Given the description of an element on the screen output the (x, y) to click on. 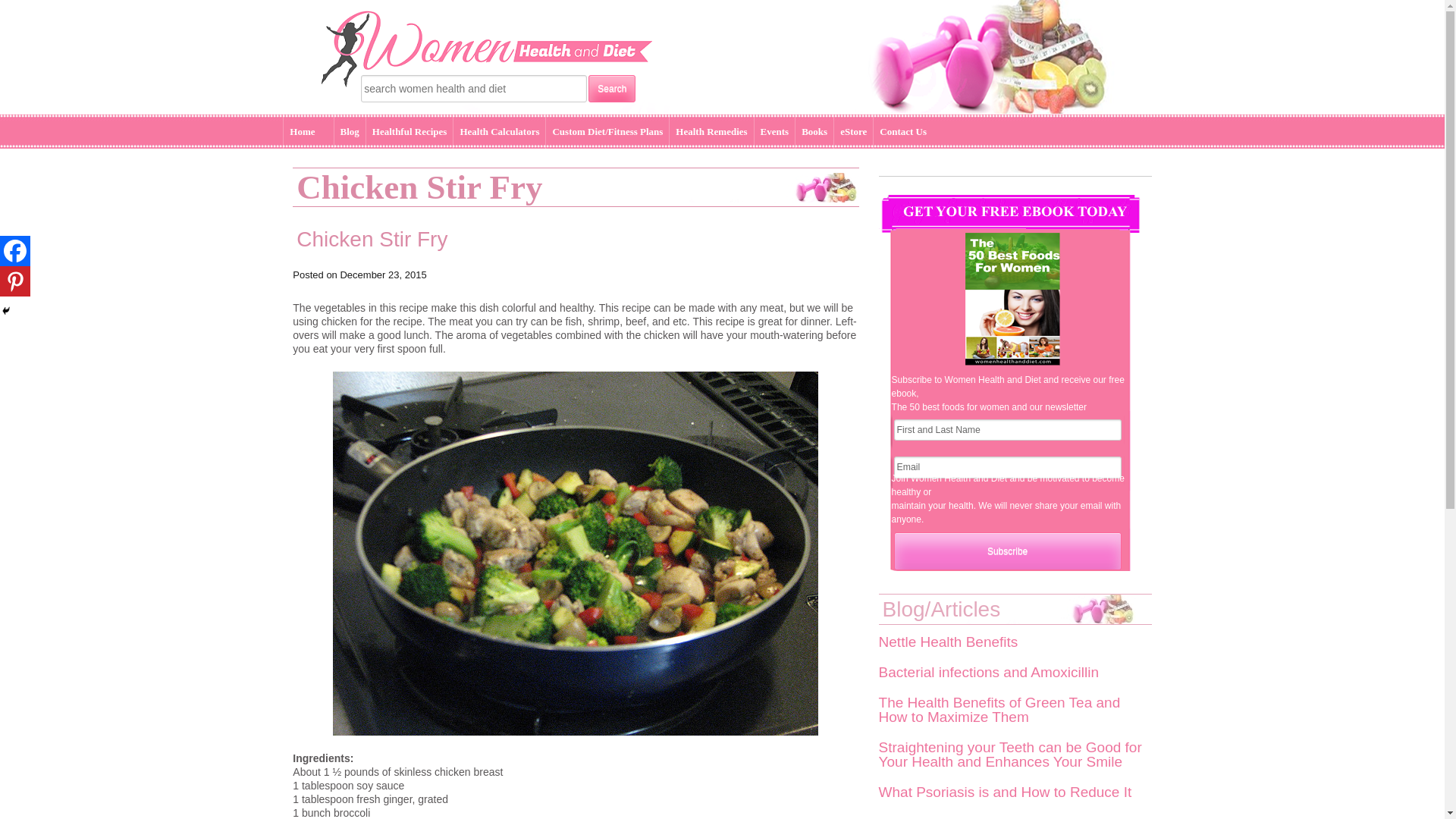
First and Last Name (1007, 429)
December 23, 2015 (382, 274)
Health Remedies (710, 131)
Facebook (15, 250)
Contact Us (903, 131)
Hide (5, 310)
Home (301, 131)
eStore (853, 131)
Subscribe (1007, 551)
The Health Benefits of Green Tea and How to Maximize Them (1000, 709)
Healthful Recipes (409, 131)
Health Calculators (498, 131)
Search (611, 88)
Email (1007, 466)
